Given the description of an element on the screen output the (x, y) to click on. 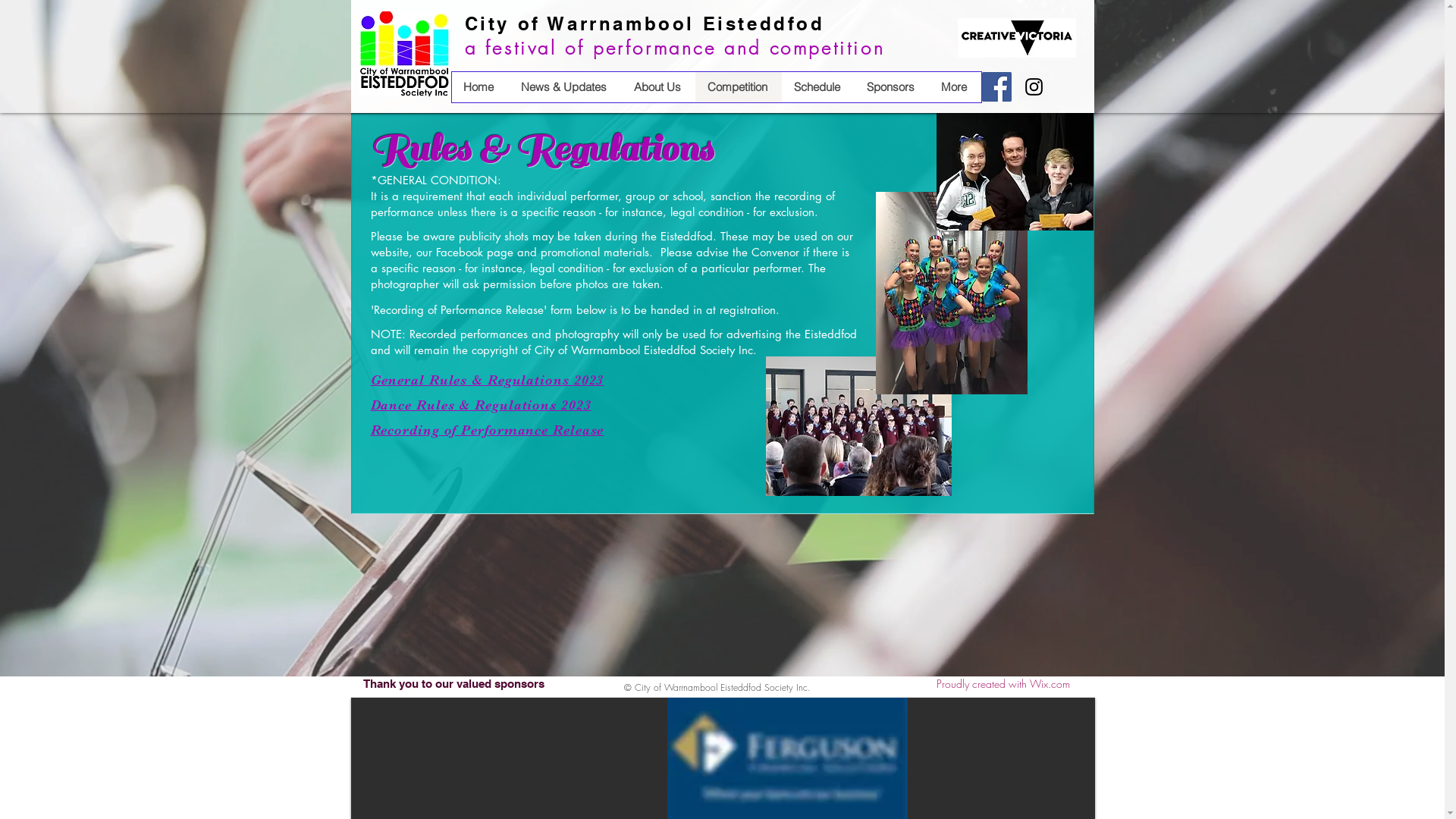
3 Element type: text (587, 404)
Schedule Element type: text (817, 87)
Home Element type: text (479, 87)
Sponsors Element type: text (890, 87)
About Us Element type: text (658, 87)
Recording of Performance Release Element type: text (486, 429)
Dance Rules & Element type: text (420, 404)
2 Element type: text (579, 404)
Reg Element type: text (484, 404)
News & Updates Element type: text (564, 87)
City of Warrnambool Eisteddfod Element type: text (644, 23)
Competition Element type: text (737, 87)
General Rules & Regulations 2023 Element type: text (486, 379)
ulations 20 Element type: text (537, 404)
Proudly created with Wix.com Element type: text (1002, 683)
